Given the description of an element on the screen output the (x, y) to click on. 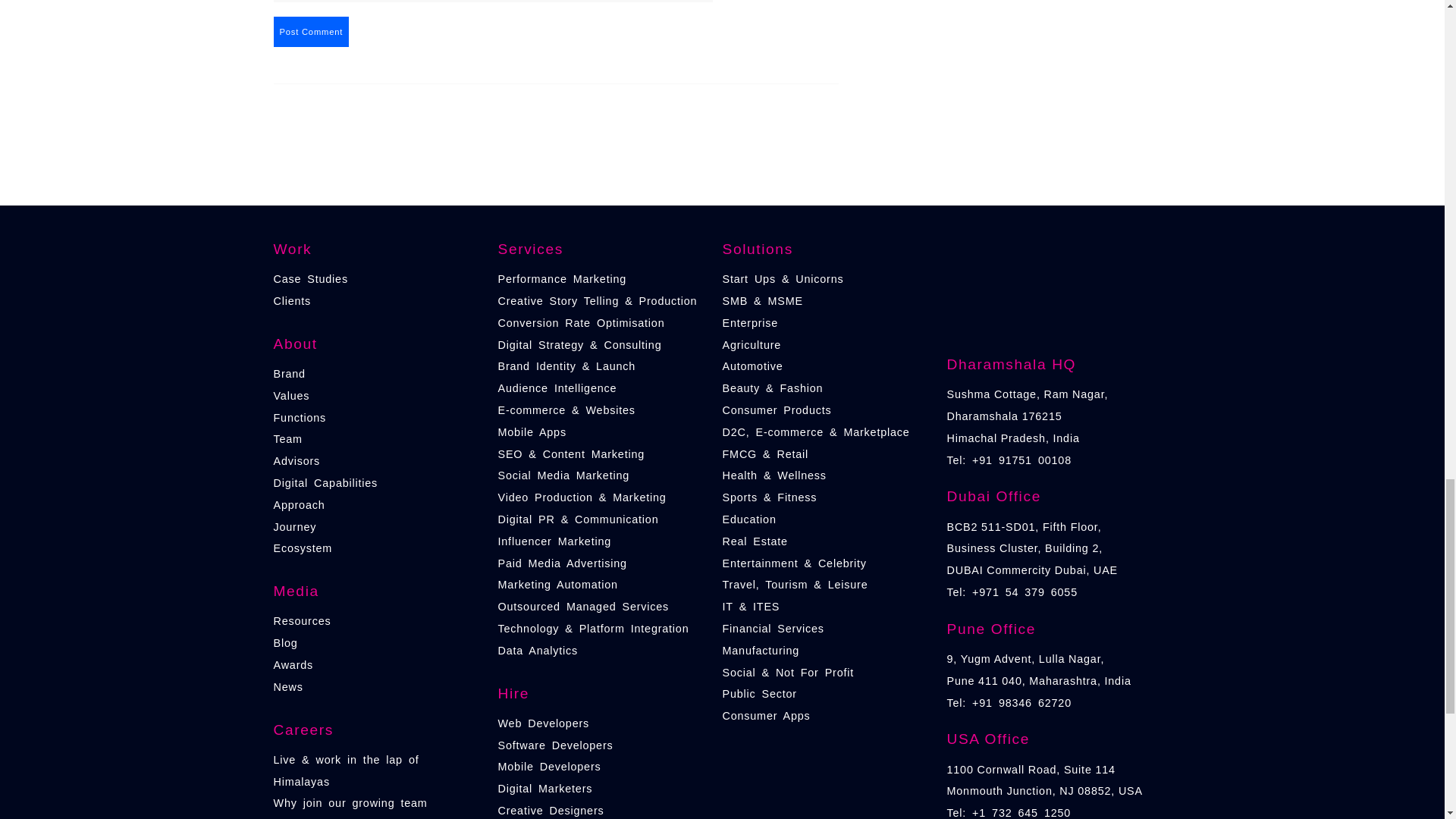
Case Studies (310, 278)
News (287, 686)
Values (290, 395)
Social Media Marketing (562, 475)
Influencer Marketing (554, 541)
Team (287, 439)
Brand (288, 373)
Audience Intelligence (556, 387)
Functions (299, 417)
Ecosystem (302, 548)
